Given the description of an element on the screen output the (x, y) to click on. 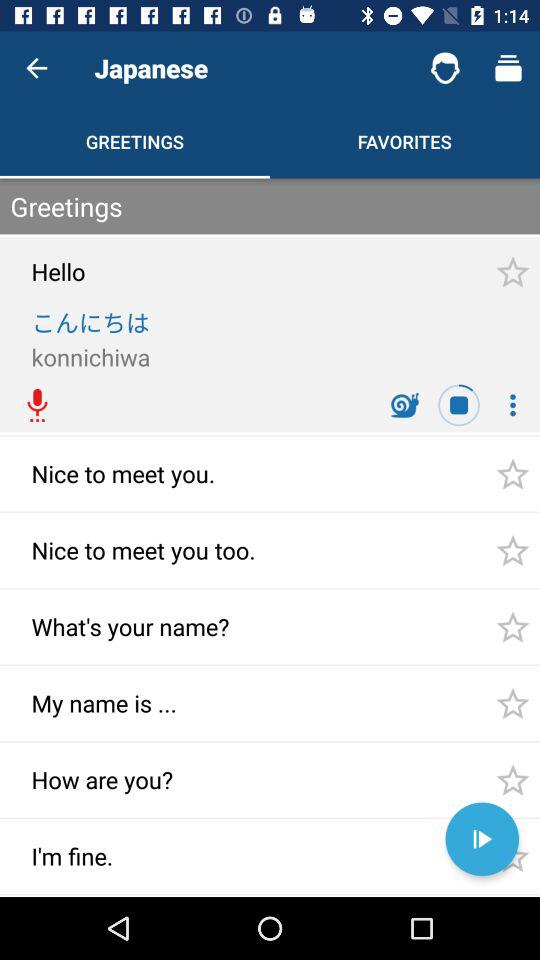
click on the star icon (512, 271)
